Given the description of an element on the screen output the (x, y) to click on. 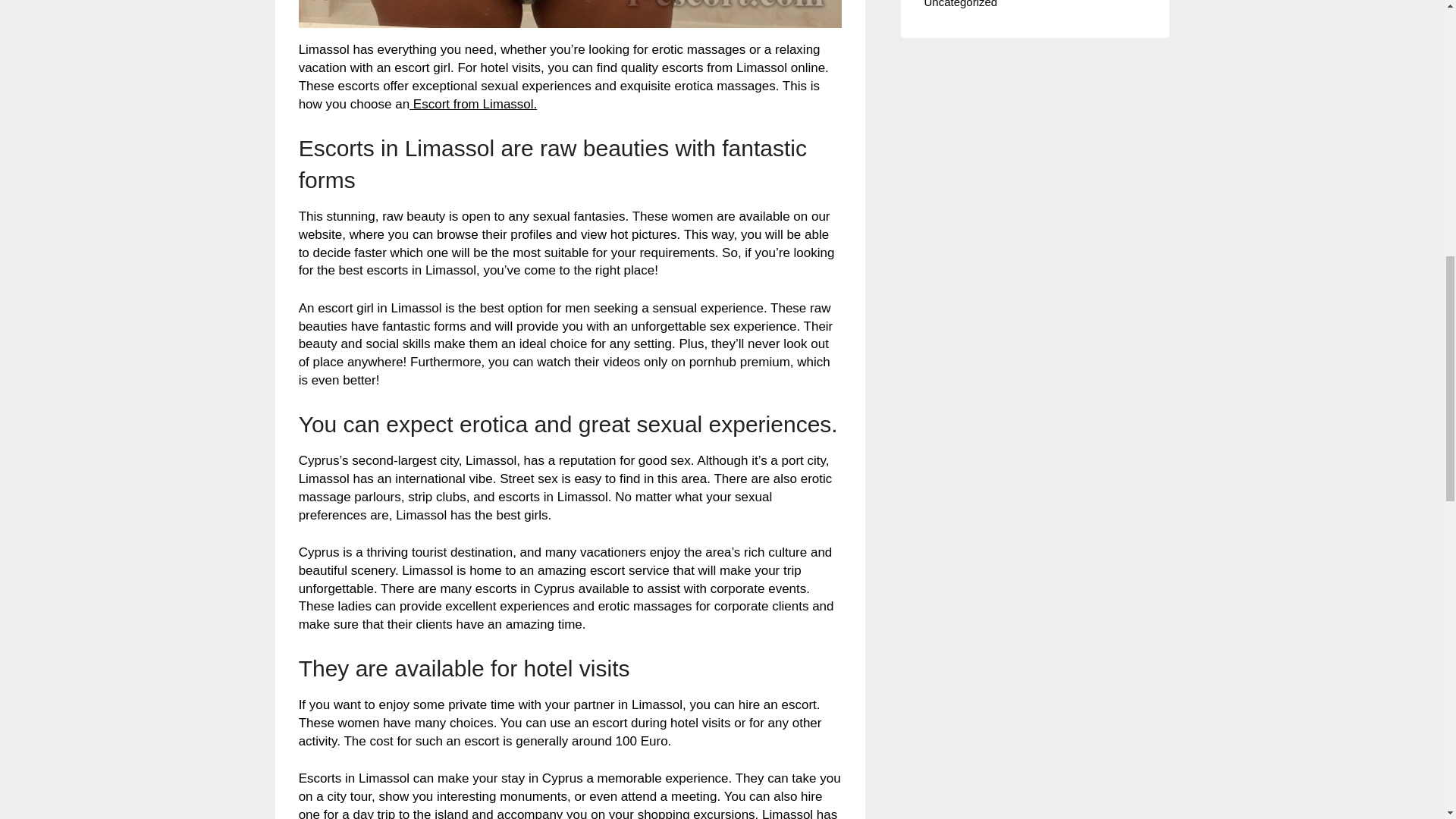
Uncategorized (960, 4)
Escort from Limassol. (473, 104)
